Given the description of an element on the screen output the (x, y) to click on. 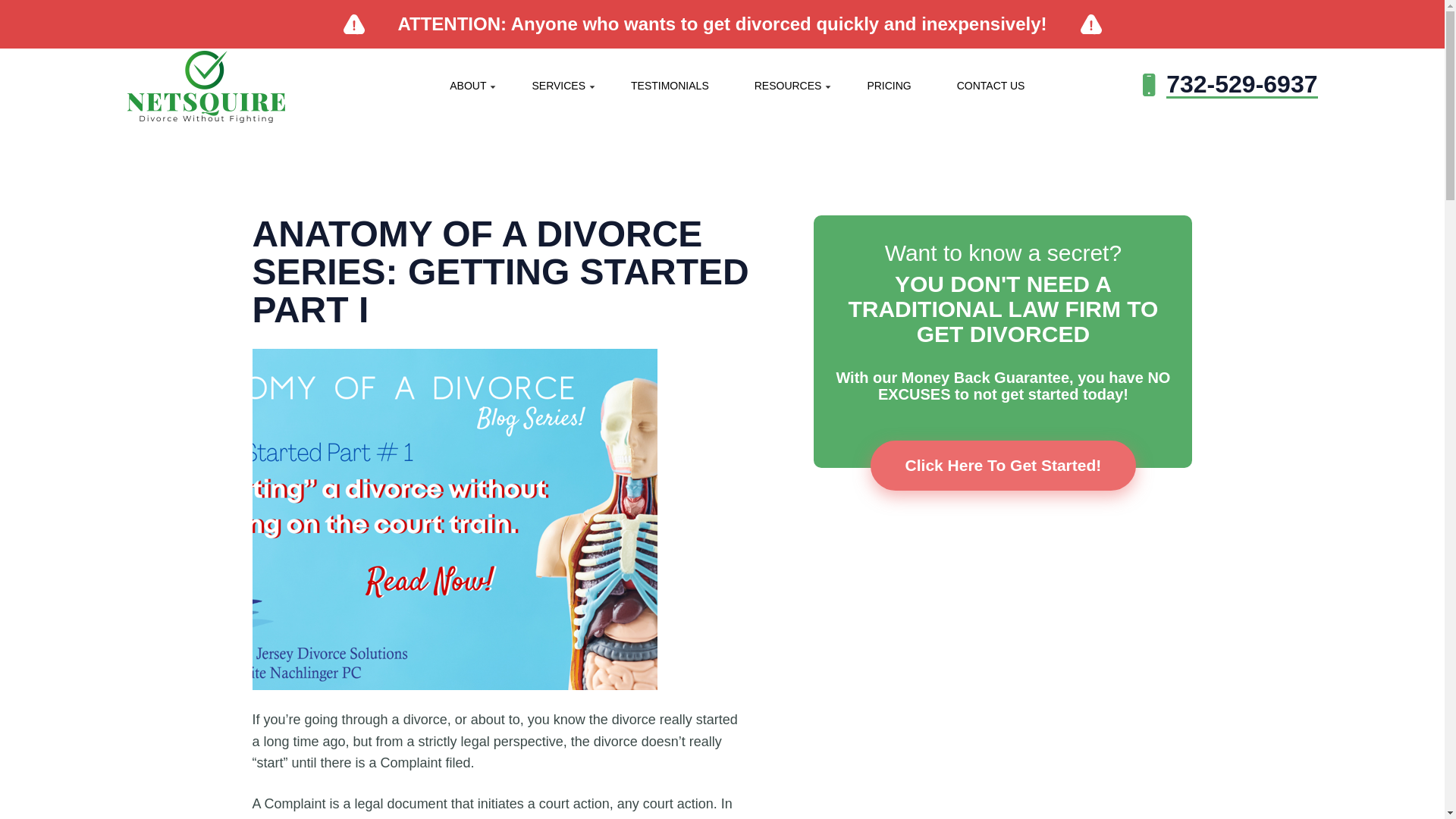
SERVICES (558, 85)
PRICING (888, 85)
CONTACT US (991, 85)
Netsquire (229, 85)
732-529-6937 (1229, 85)
RESOURCES (788, 85)
TESTIMONIALS (670, 85)
ABOUT (467, 85)
